Given the description of an element on the screen output the (x, y) to click on. 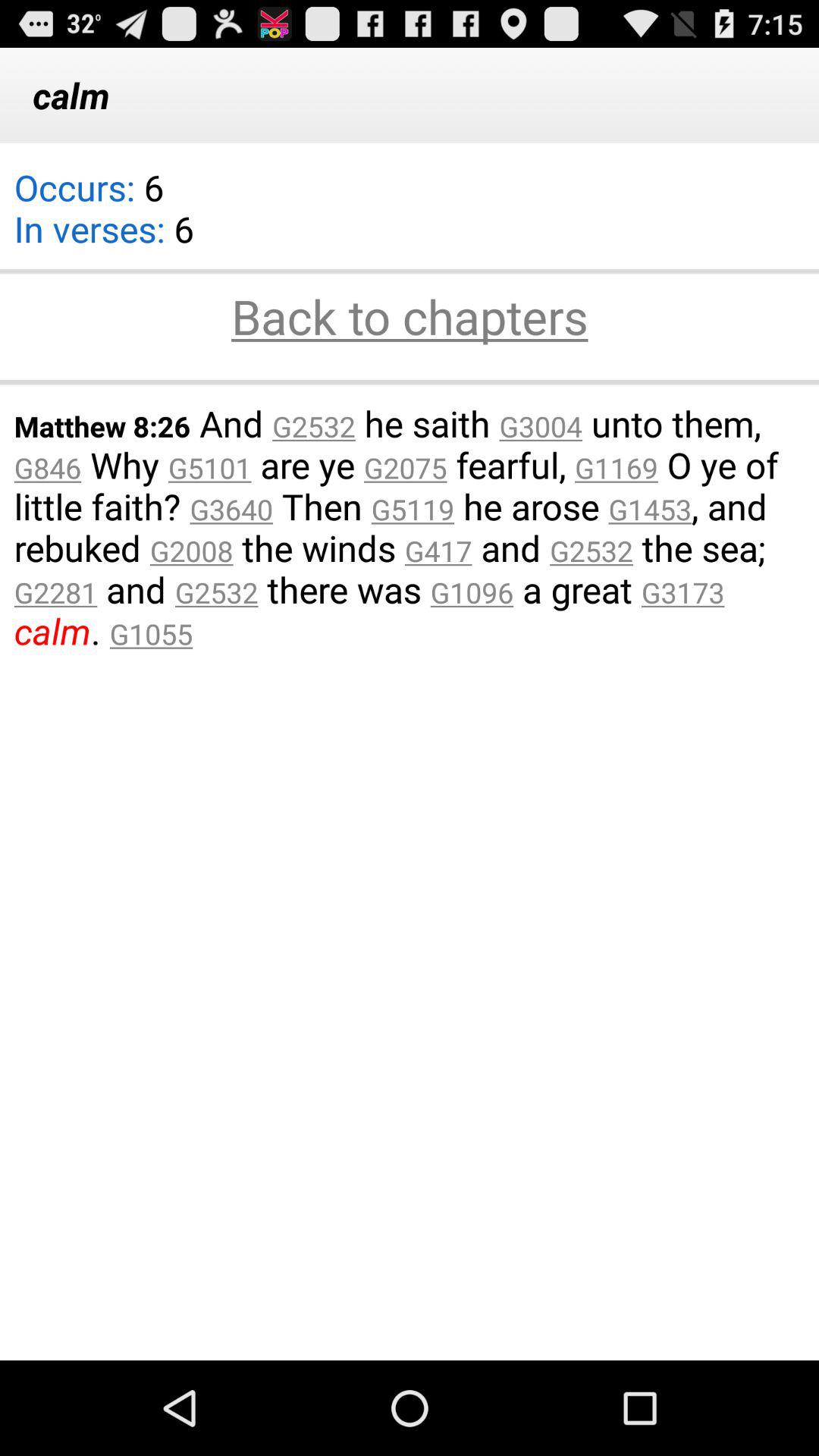
turn off icon above matthew 8 26 (409, 381)
